Given the description of an element on the screen output the (x, y) to click on. 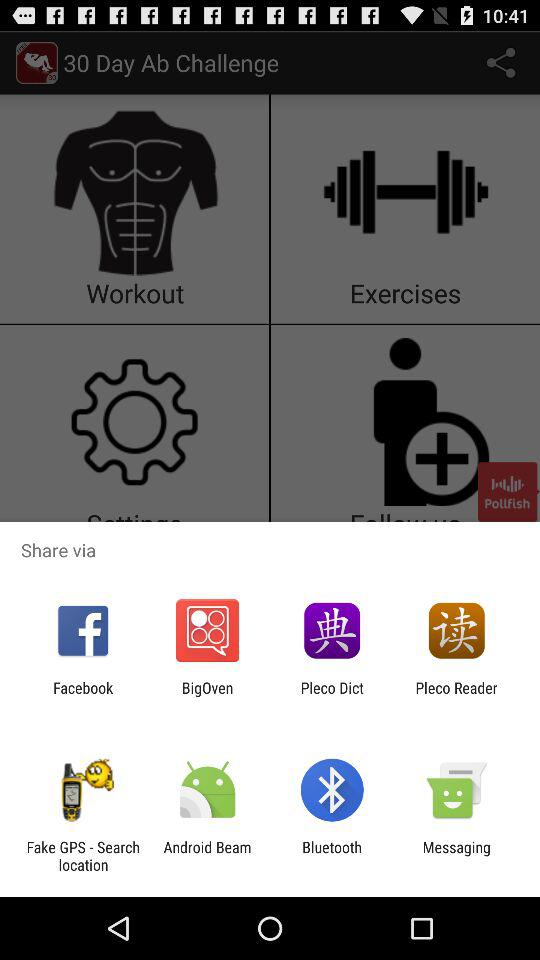
swipe until the android beam app (207, 856)
